Given the description of an element on the screen output the (x, y) to click on. 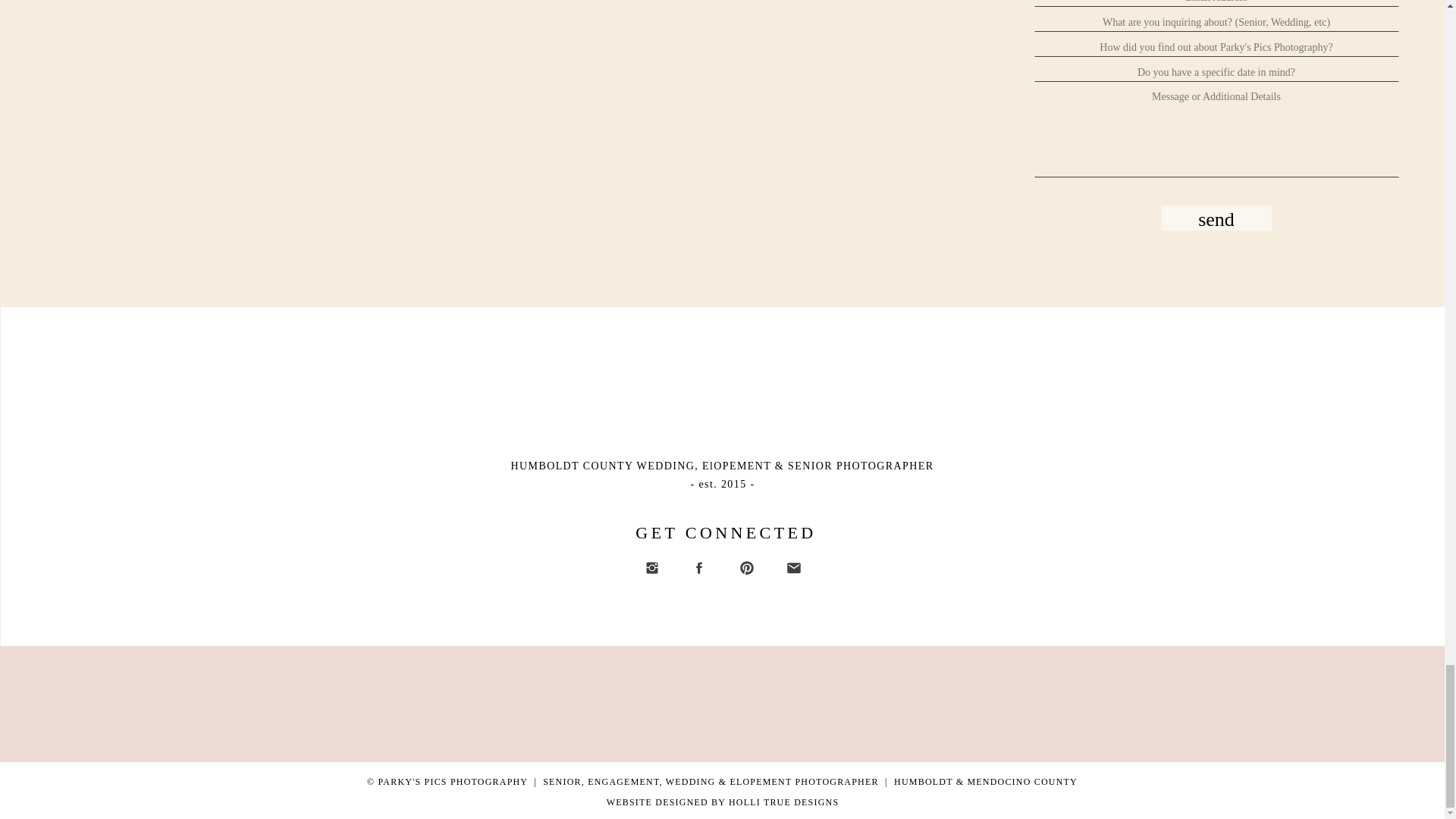
send (1216, 218)
